Given the description of an element on the screen output the (x, y) to click on. 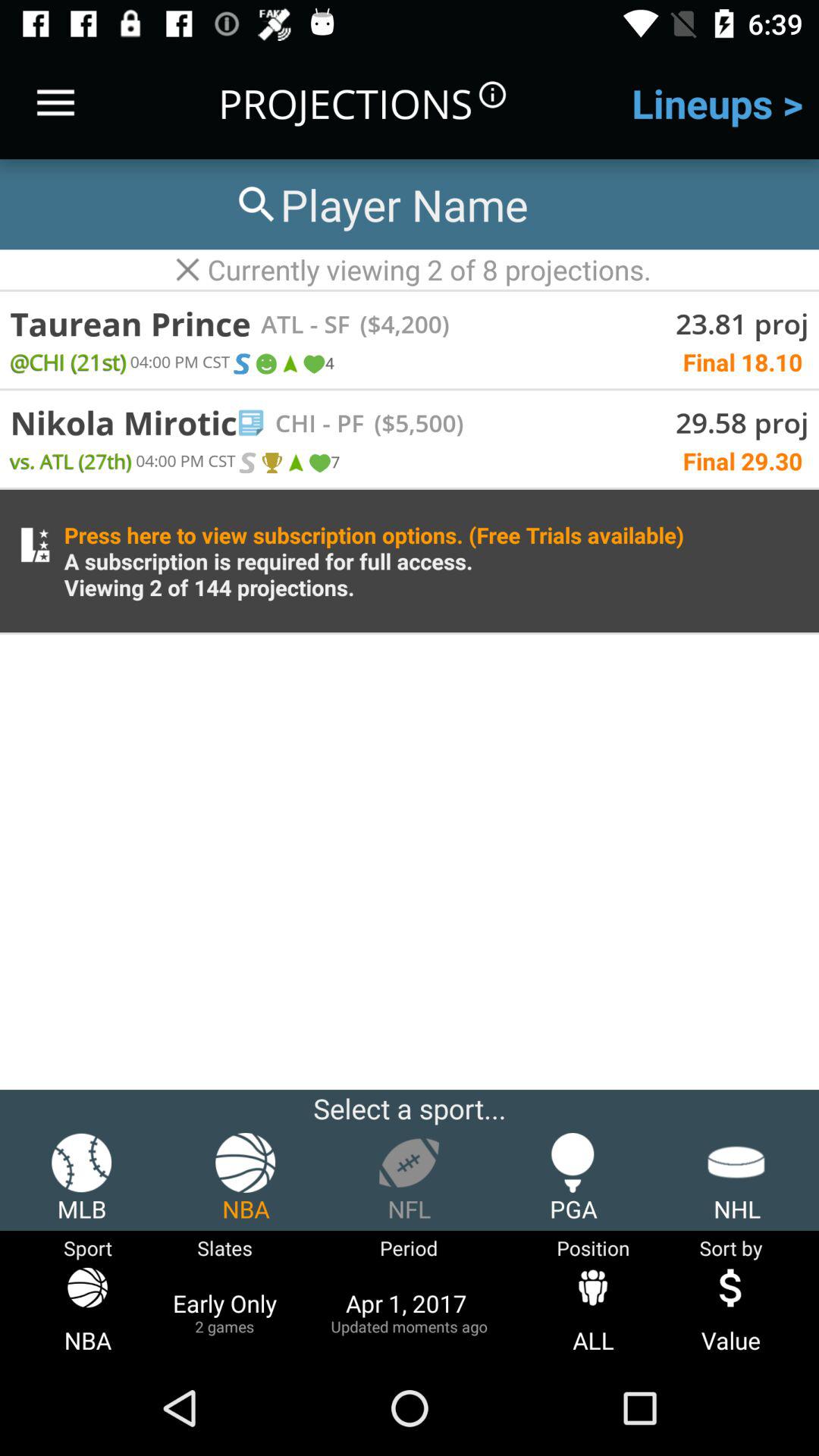
go search (380, 204)
